Given the description of an element on the screen output the (x, y) to click on. 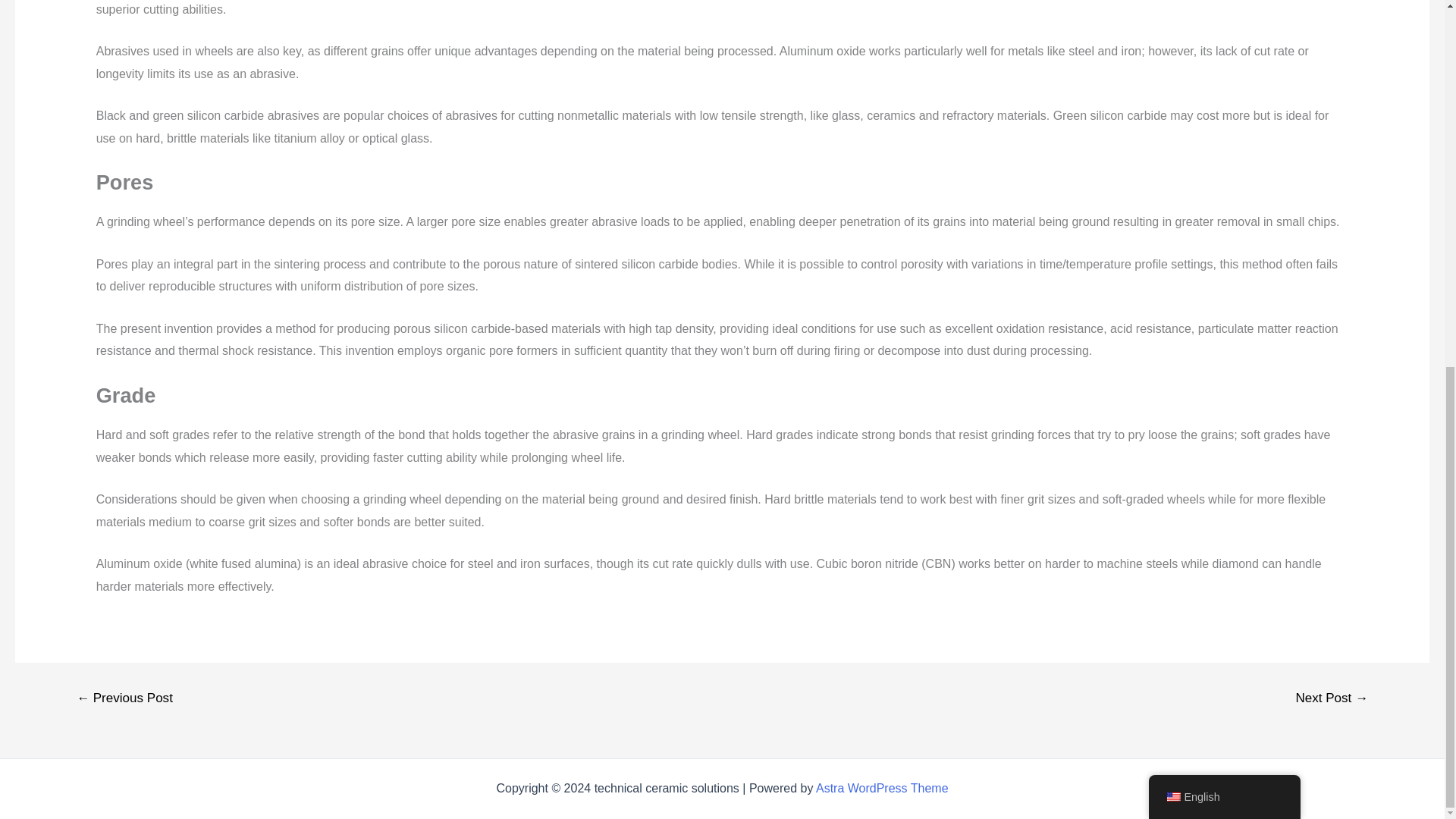
English (1172, 135)
English (1224, 135)
Astra WordPress Theme (882, 788)
